Given the description of an element on the screen output the (x, y) to click on. 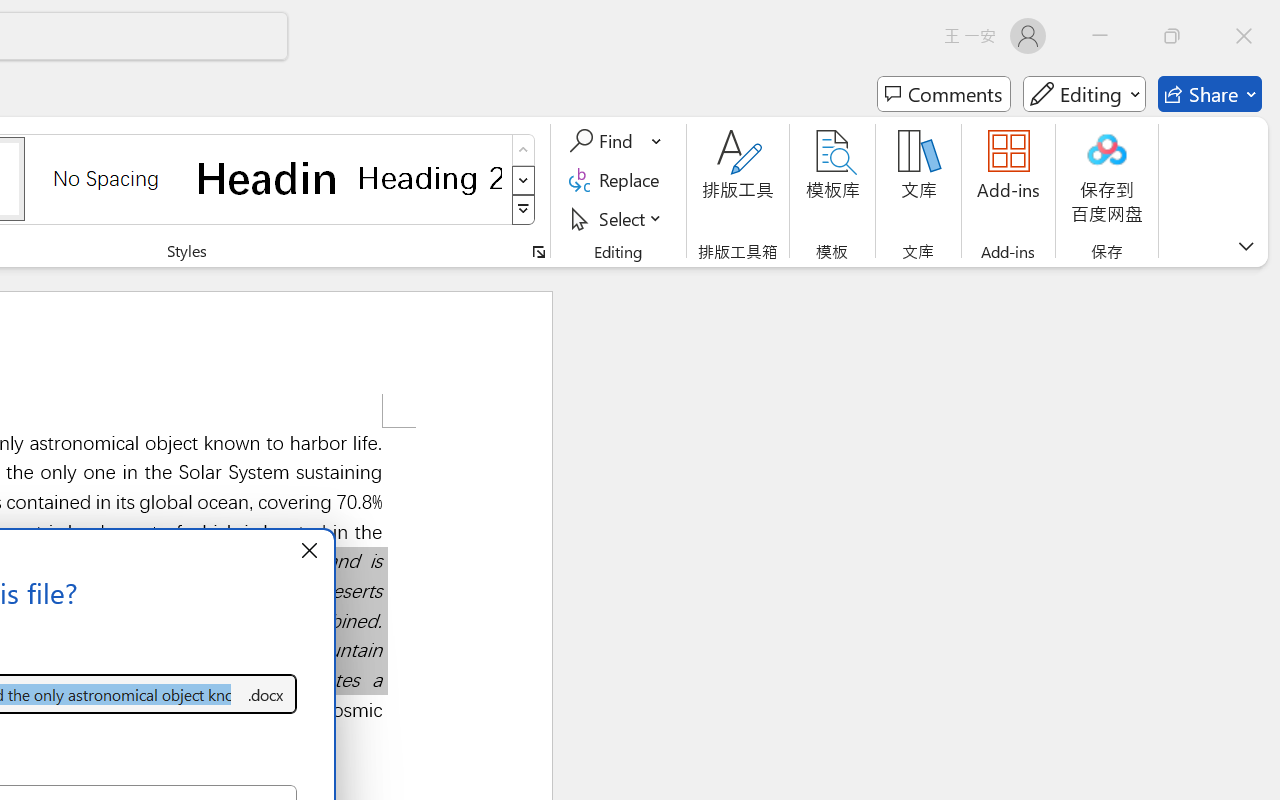
Row up (523, 150)
Row Down (523, 180)
Heading 1 (267, 178)
Heading 2 (429, 178)
Styles (523, 209)
